Given the description of an element on the screen output the (x, y) to click on. 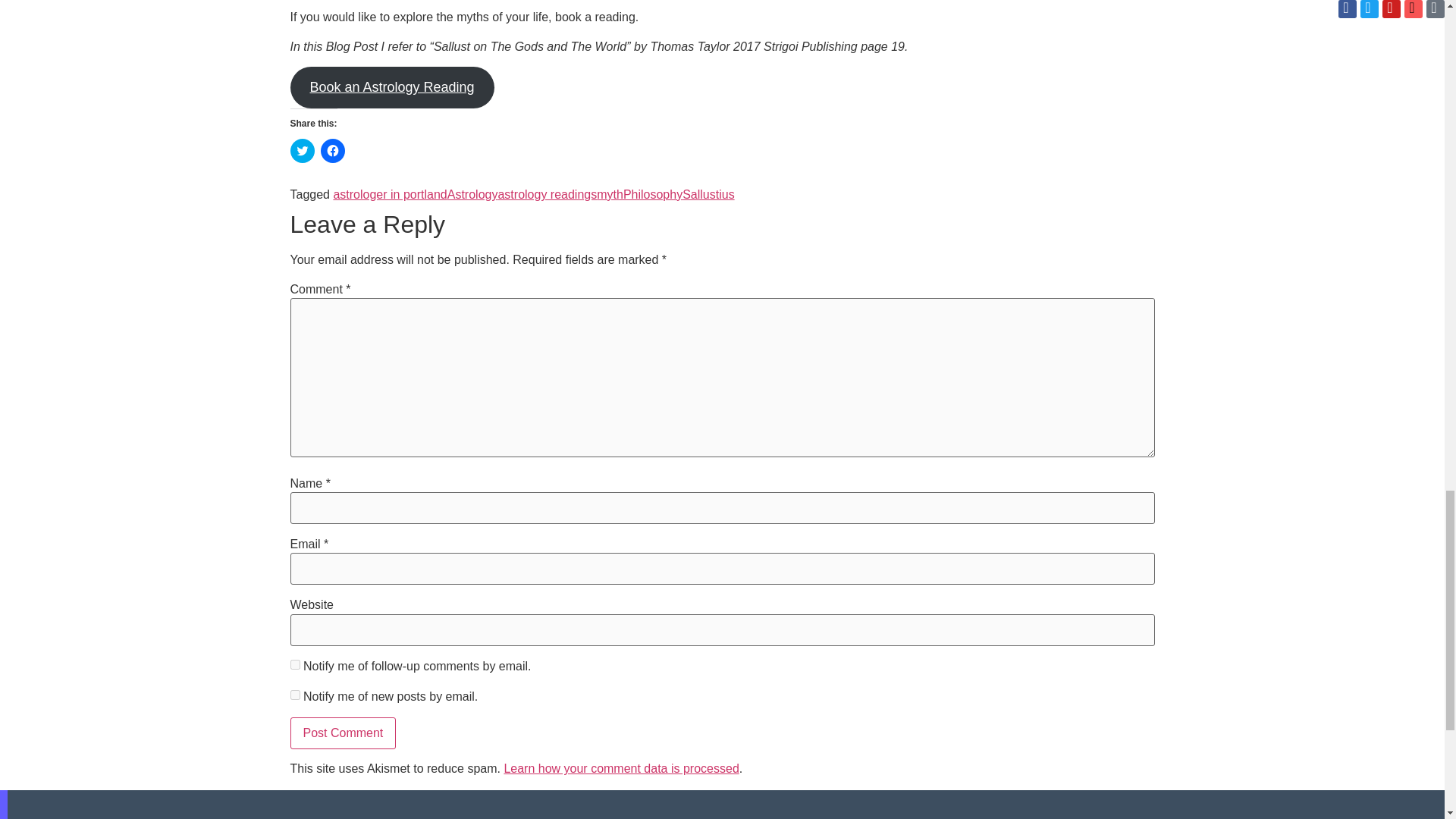
Click to share on Facebook (331, 150)
astrologer in portland (389, 194)
Book an Astrology Reading (391, 87)
subscribe (294, 664)
Post Comment (342, 733)
subscribe (294, 695)
Click to share on Twitter (301, 150)
